Given the description of an element on the screen output the (x, y) to click on. 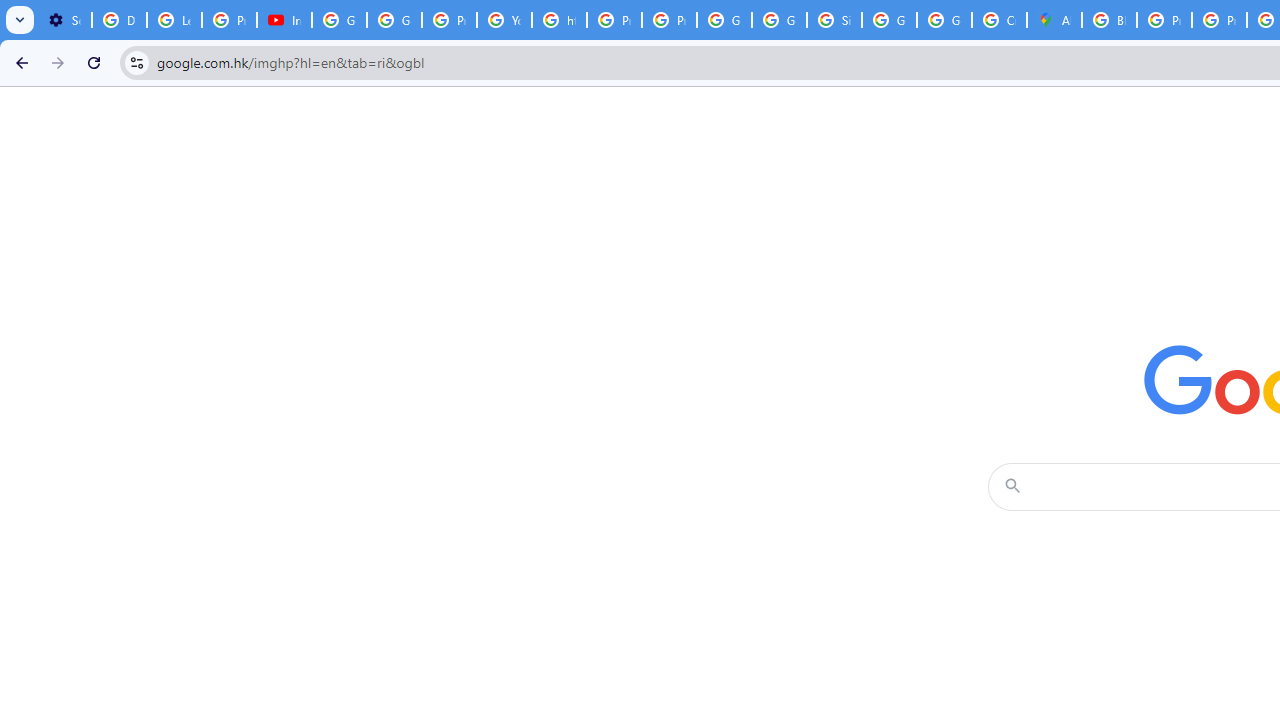
https://scholar.google.com/ (559, 20)
Create your Google Account (998, 20)
Introduction | Google Privacy Policy - YouTube (284, 20)
YouTube (504, 20)
Privacy Help Center - Policies Help (1218, 20)
Delete photos & videos - Computer - Google Photos Help (119, 20)
Sign in - Google Accounts (833, 20)
